Given the description of an element on the screen output the (x, y) to click on. 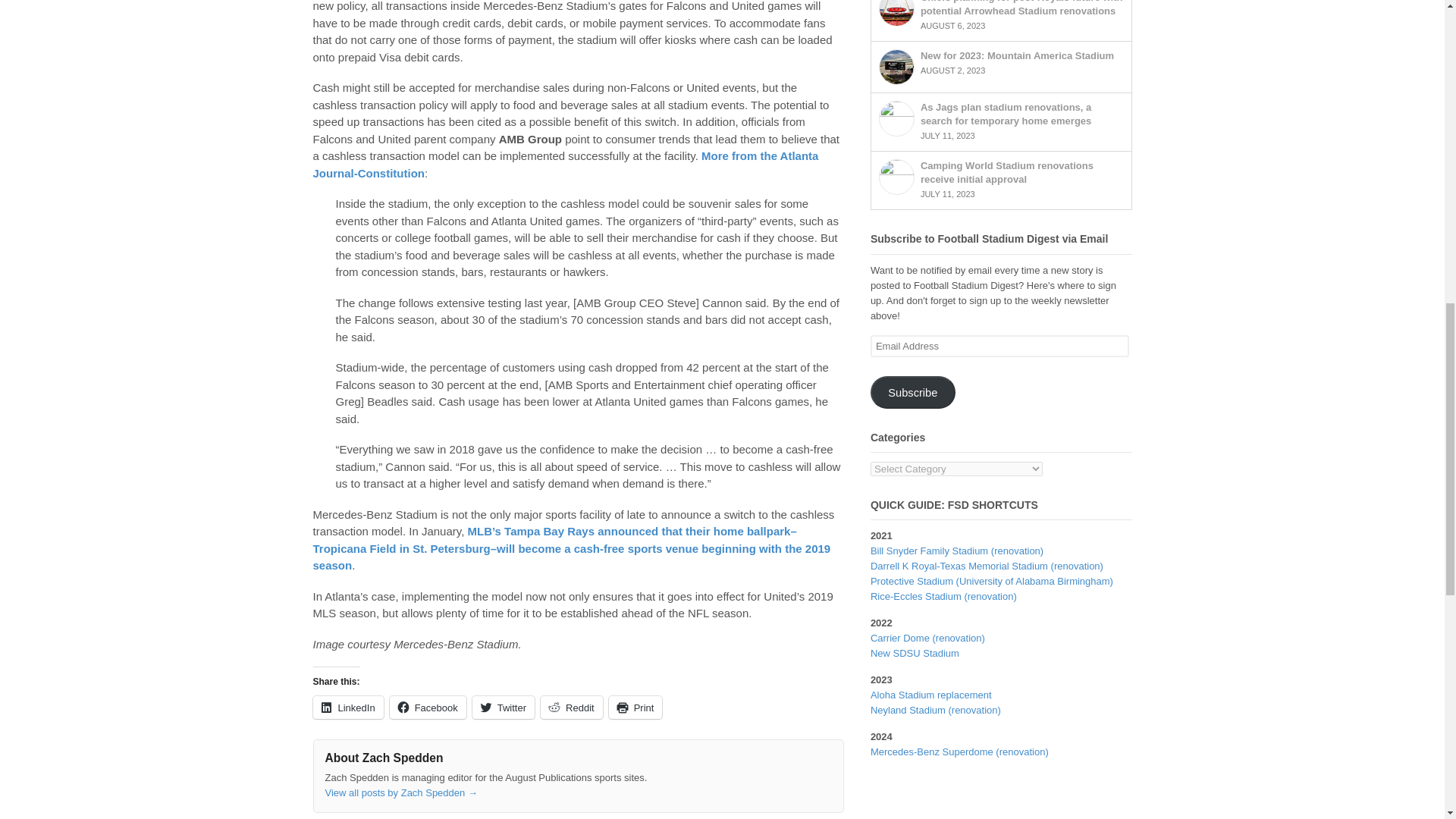
Click to print (635, 707)
Click to share on Facebook (427, 707)
Click to share on LinkedIn (347, 707)
Click to share on Twitter (502, 707)
Click to share on Reddit (571, 707)
